Given the description of an element on the screen output the (x, y) to click on. 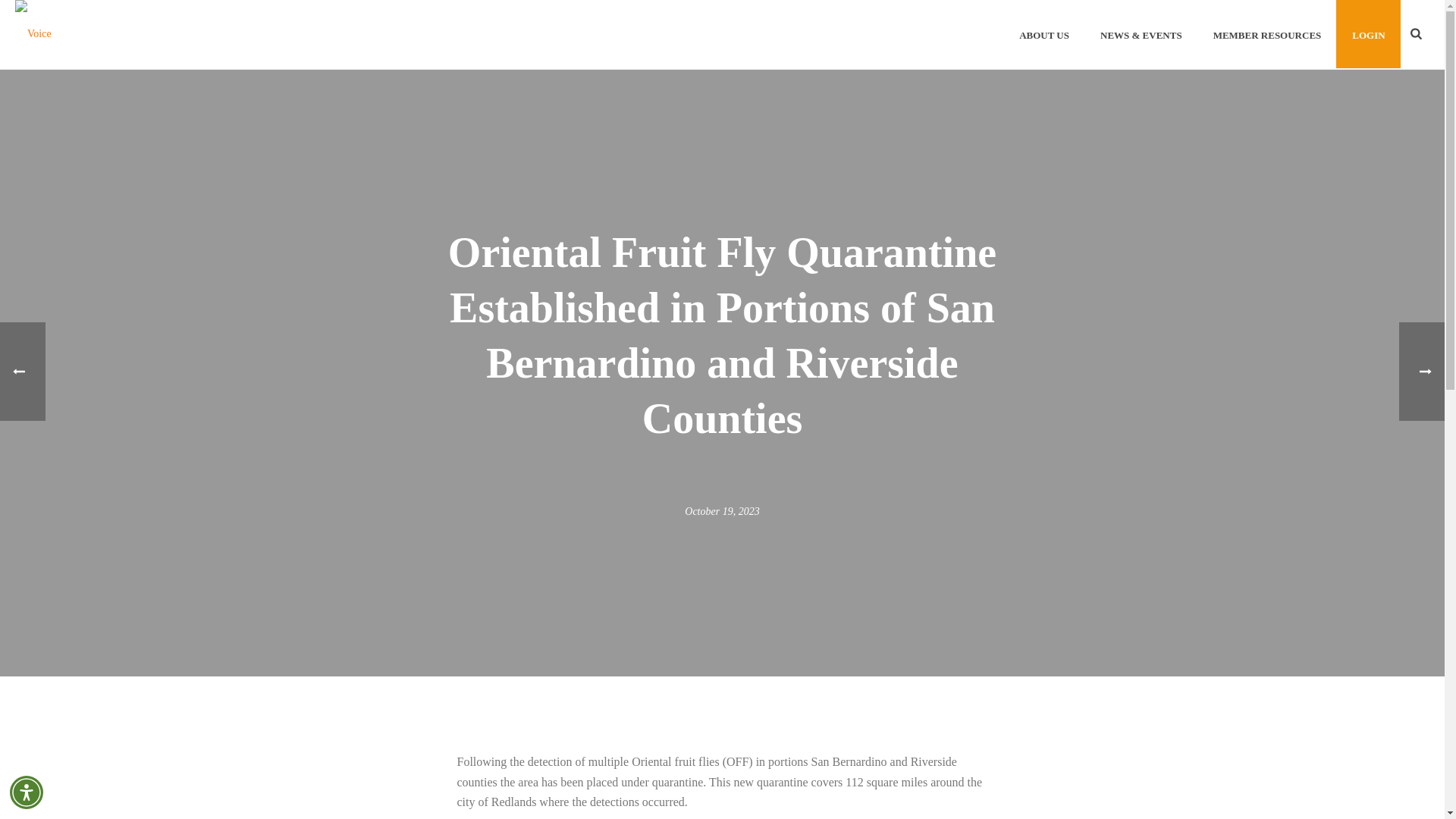
MEMBER RESOURCES (1267, 33)
ABOUT US (1044, 33)
ABOUT US (1044, 33)
LOGIN (1367, 33)
LOGIN (1367, 33)
MEMBER RESOURCES (1267, 33)
Accessibility Menu (26, 792)
